Given the description of an element on the screen output the (x, y) to click on. 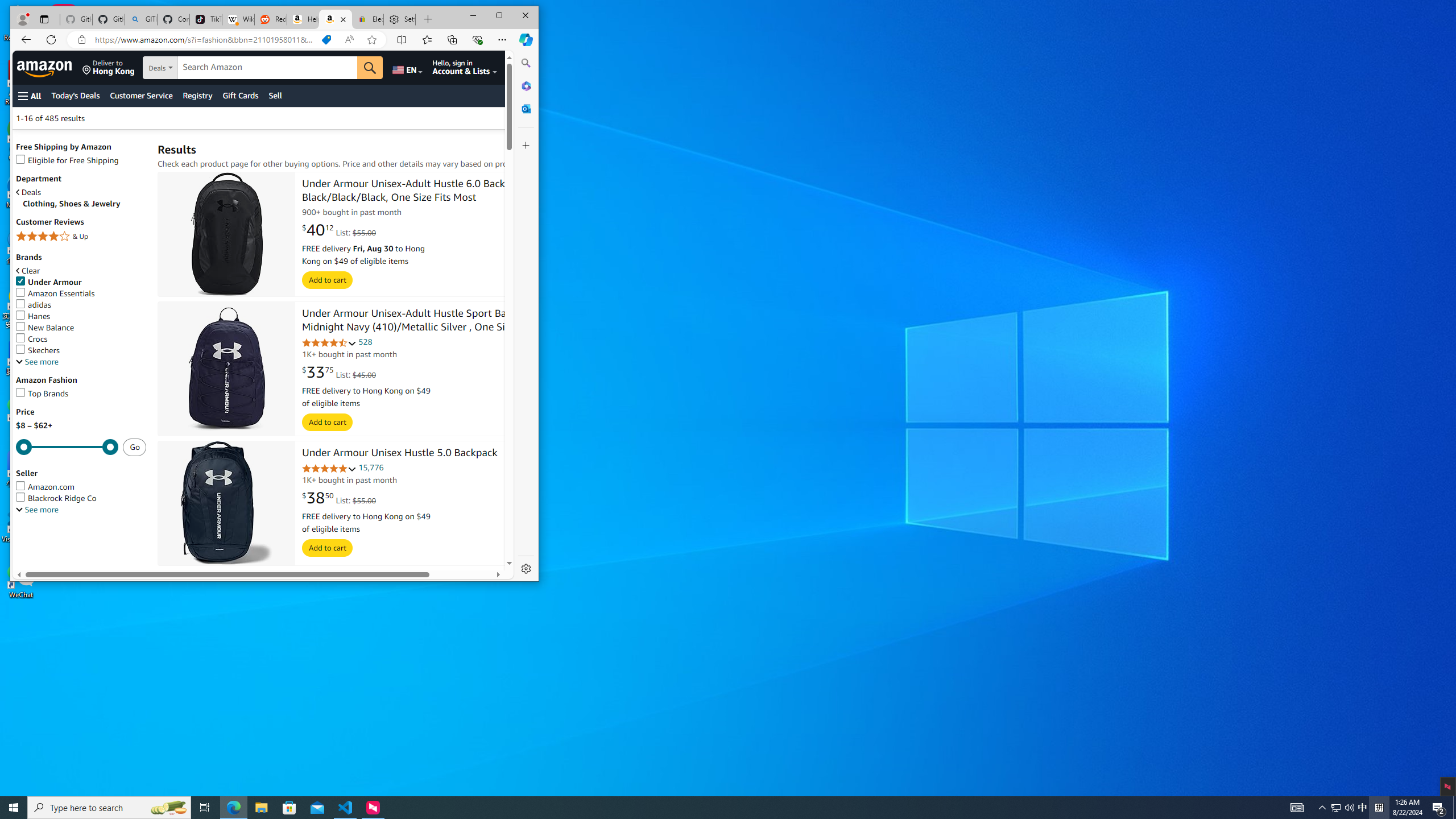
AutomationID: 4105 (1297, 807)
Amazon.com (80, 487)
Clothing, Shoes & Jewelry (84, 203)
Hanes (33, 315)
Running applications (707, 807)
Under Armour (80, 282)
Search Amazon (267, 67)
New Balance (80, 327)
